Given the description of an element on the screen output the (x, y) to click on. 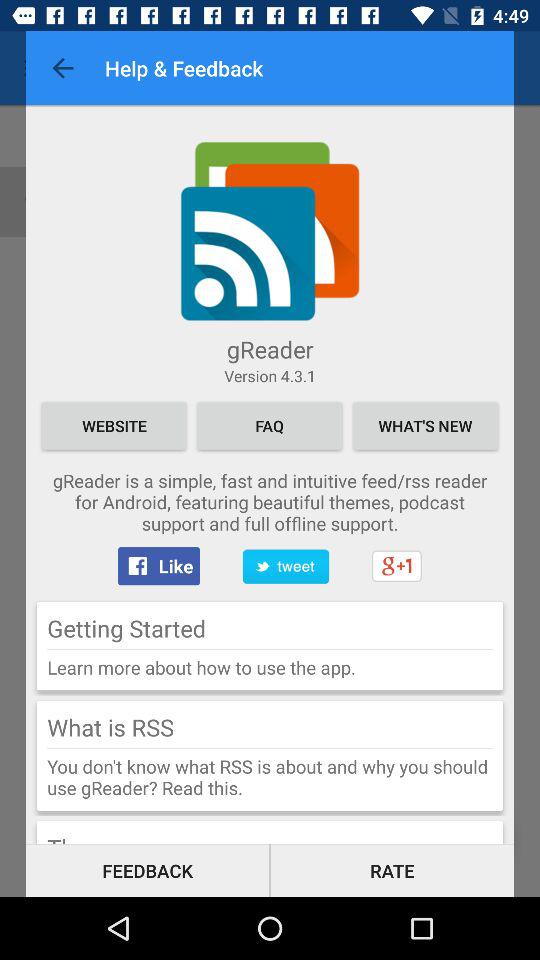
click the icon above the you don t item (269, 748)
